Given the description of an element on the screen output the (x, y) to click on. 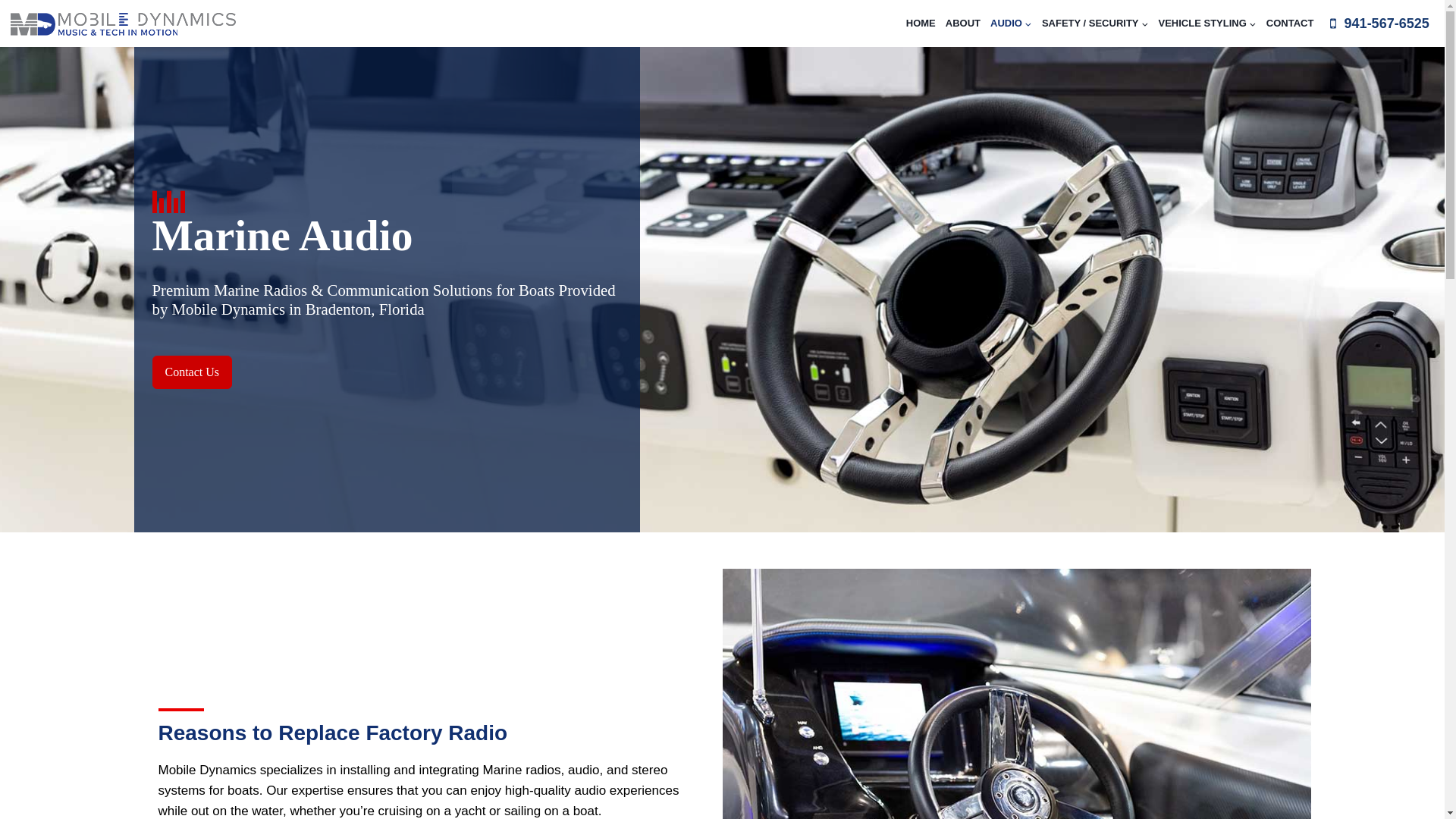
ABOUT (962, 22)
CONTACT (1289, 22)
Contact Us (191, 372)
941-567-6525 (1377, 24)
VEHICLE STYLING (1206, 22)
AUDIO (1010, 22)
HOME (920, 22)
